Given the description of an element on the screen output the (x, y) to click on. 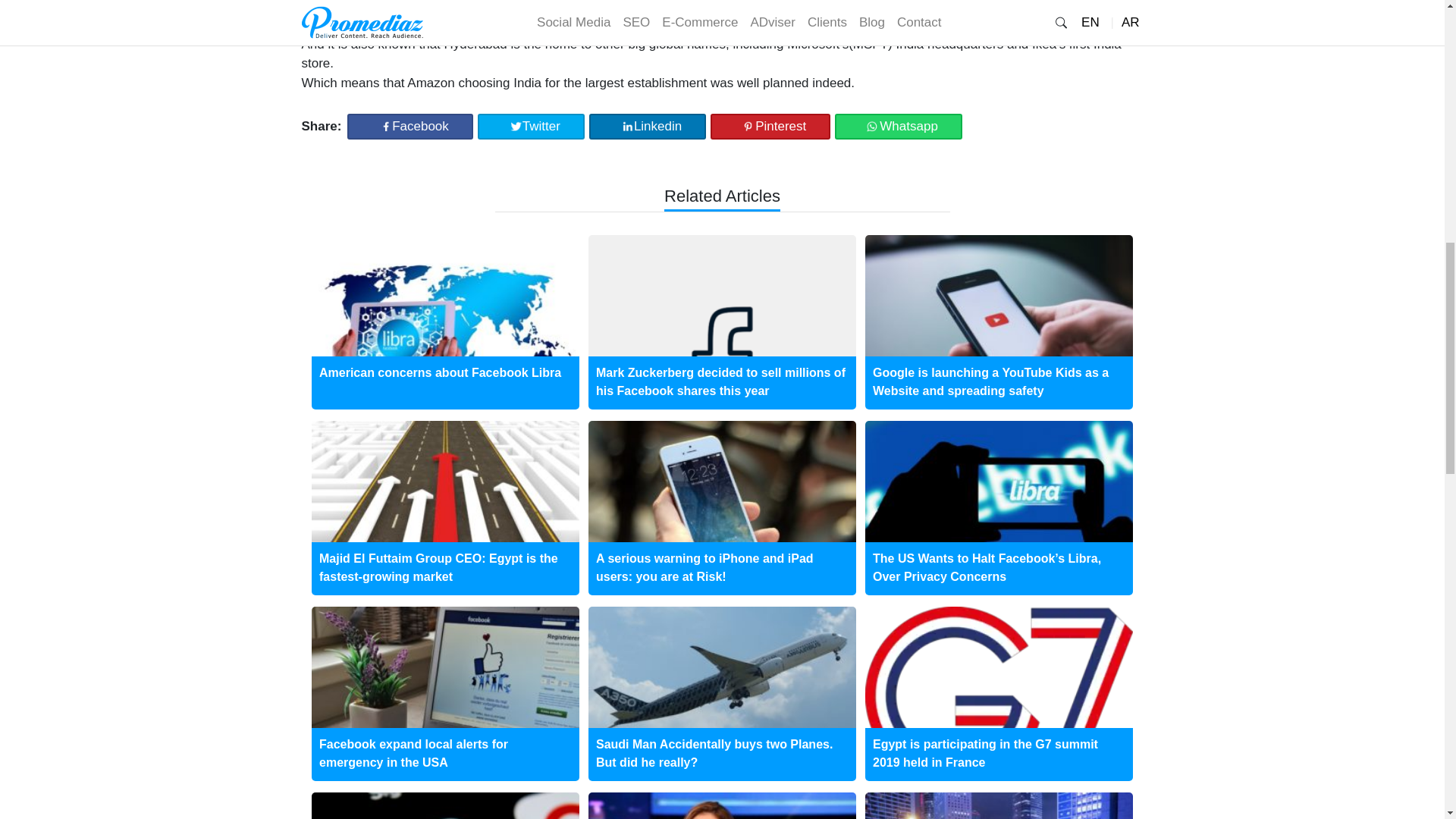
Egypt is participating in the G7 summit 2019 held in France (984, 752)
Pinterest (769, 126)
Facebook (410, 126)
whatsapp (898, 126)
linkedin (647, 126)
Saudi Man Accidentally buys two Planes. But did he really? (713, 752)
A serious warning to iPhone and iPad users: you are at Risk! (704, 567)
Whatsapp (898, 126)
twitter (531, 126)
Twitter (531, 126)
facebook (410, 126)
